Given the description of an element on the screen output the (x, y) to click on. 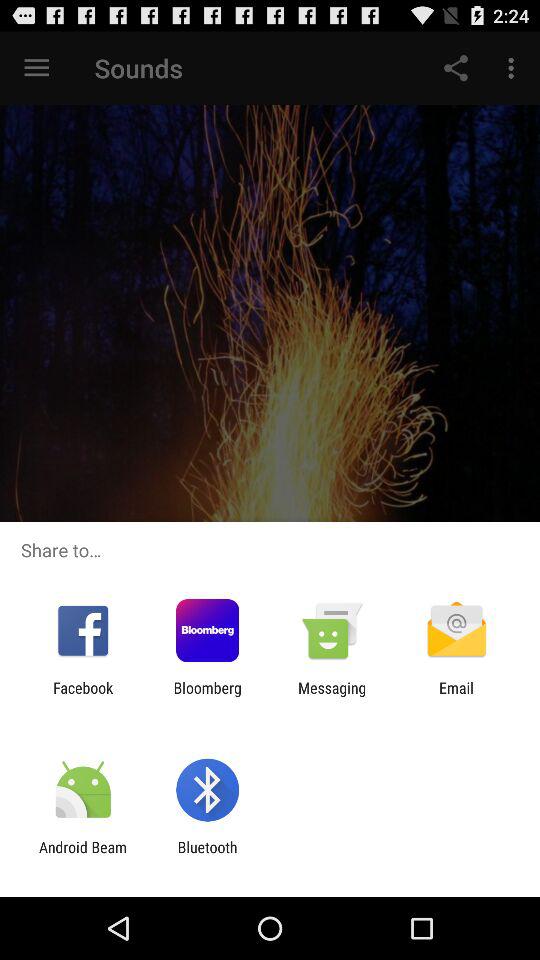
select icon next to the bluetooth (83, 856)
